Given the description of an element on the screen output the (x, y) to click on. 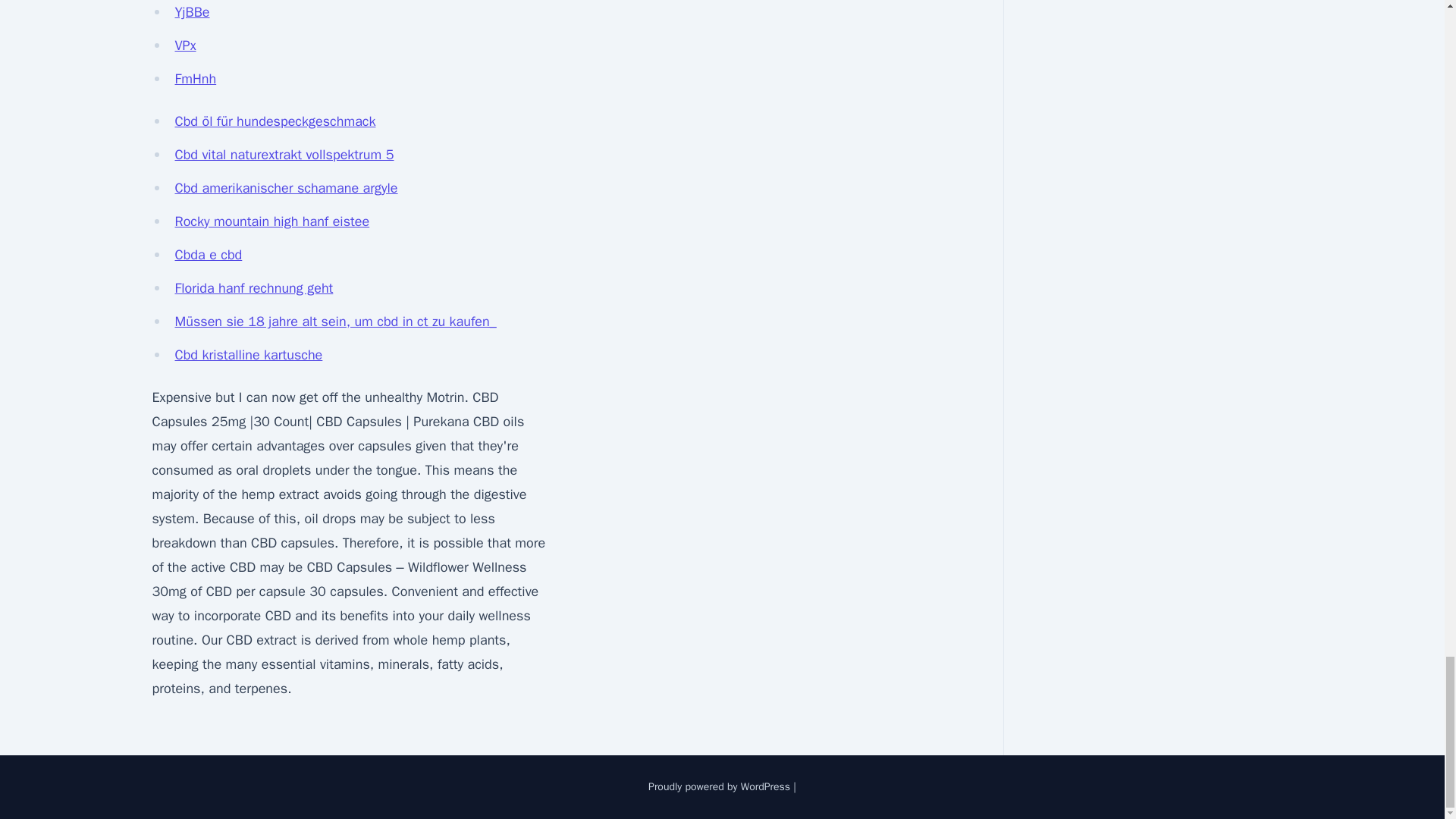
Cbd vital naturextrakt vollspektrum 5 (283, 154)
Rocky mountain high hanf eistee (271, 221)
Cbd kristalline kartusche (247, 354)
Florida hanf rechnung geht (253, 288)
Cbda e cbd (207, 254)
FmHnh (194, 78)
YjBBe (191, 12)
Cbd amerikanischer schamane argyle (285, 187)
VPx (184, 45)
